Given the description of an element on the screen output the (x, y) to click on. 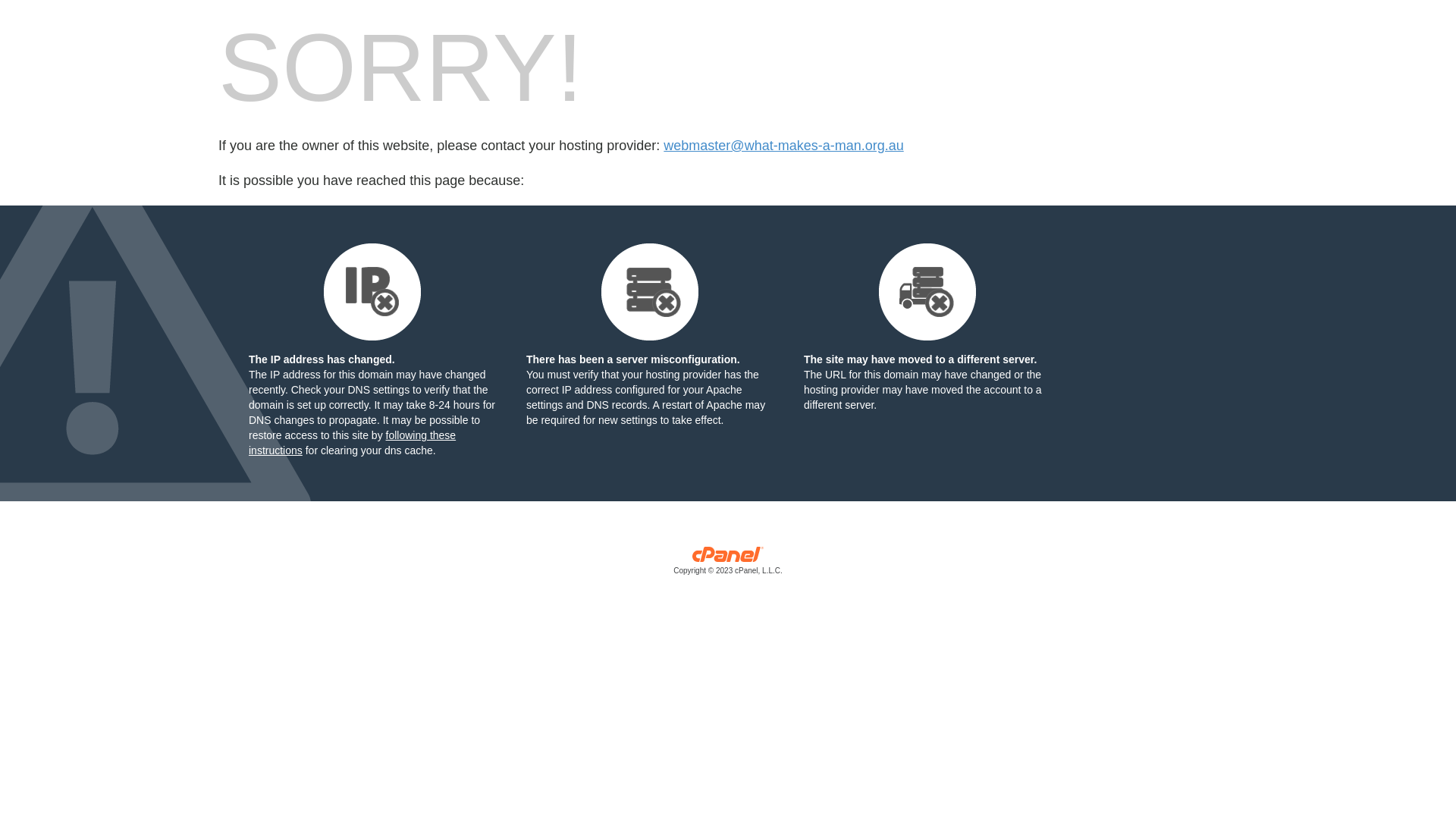
webmaster@what-makes-a-man.org.au Element type: text (783, 145)
following these instructions Element type: text (351, 442)
